Given the description of an element on the screen output the (x, y) to click on. 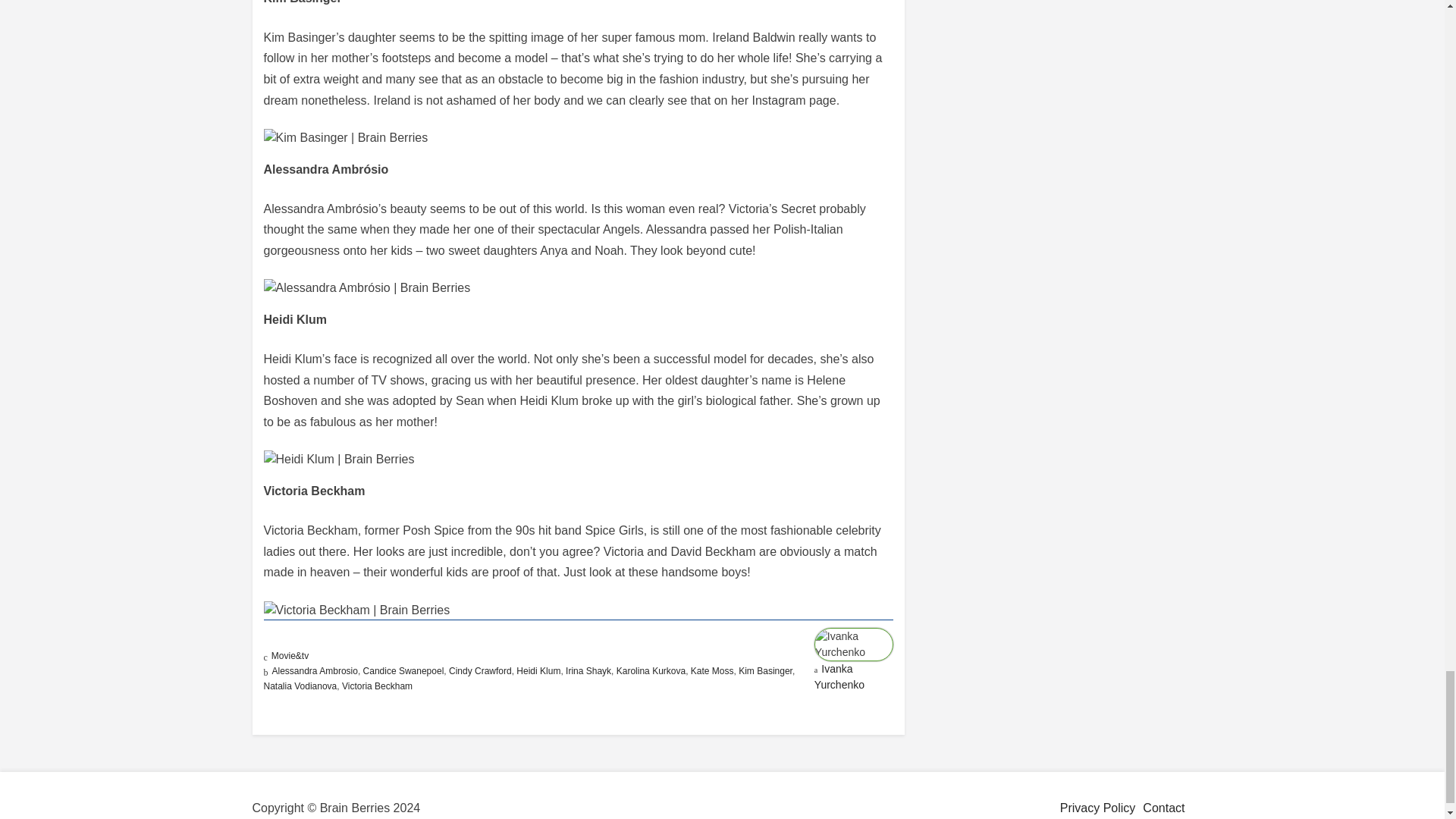
Candice Swanepoel (403, 670)
Alessandra Ambrosio (313, 670)
Heidi Klum (538, 670)
Cindy Crawford (480, 670)
